Given the description of an element on the screen output the (x, y) to click on. 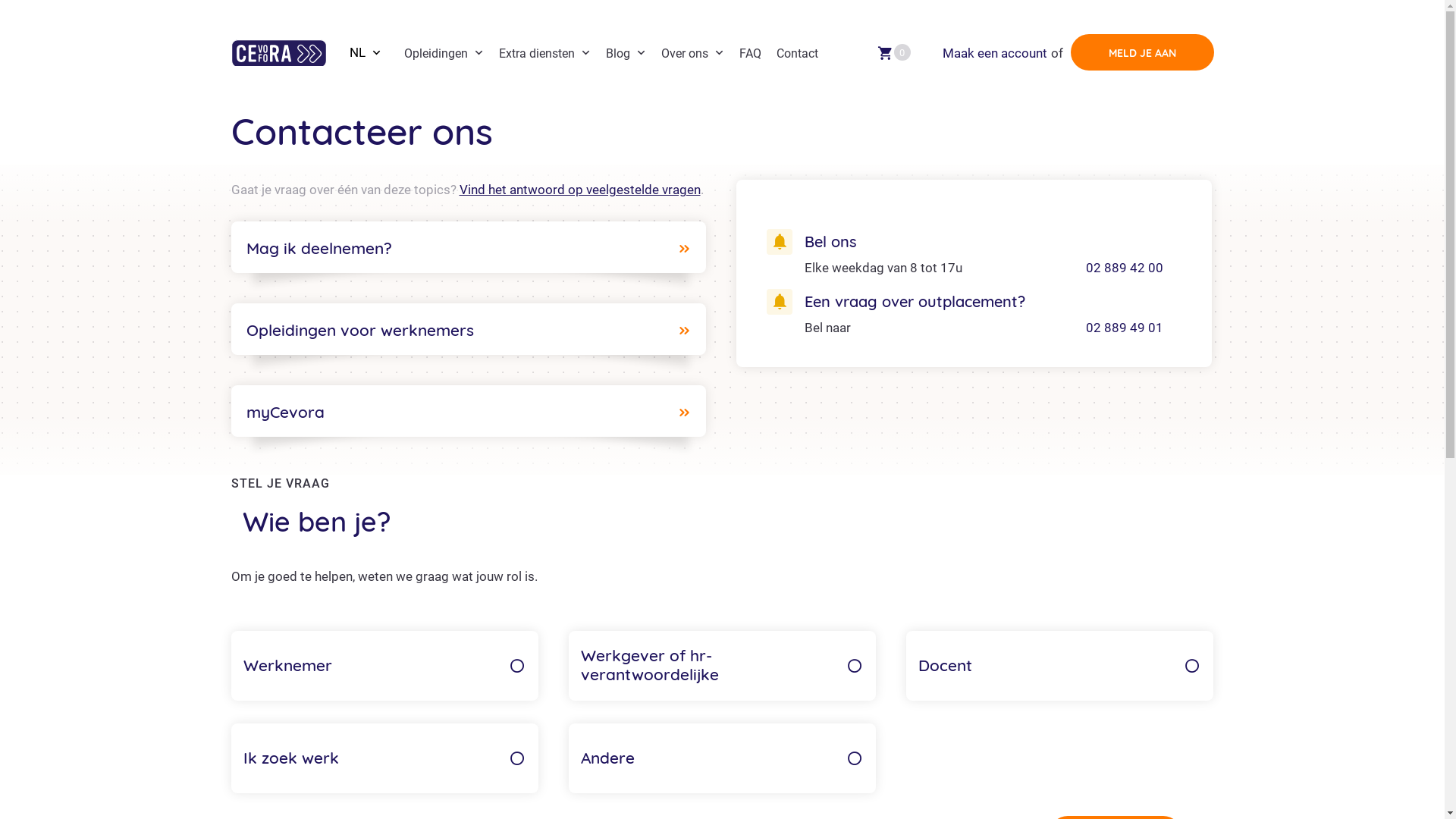
Vind het antwoord op veelgestelde vragen Element type: text (579, 188)
02 889 42 00 Element type: text (1124, 266)
Over ons Element type: text (692, 52)
FAQ Element type: text (749, 52)
Mag ik deelnemen? Element type: text (468, 247)
Blog Element type: text (625, 52)
Opleidingen voor werknemers Element type: text (468, 328)
myCevora Element type: text (468, 410)
Opleidingen Element type: text (443, 52)
Maak een account Element type: text (993, 52)
Extra diensten Element type: text (544, 52)
02 889 49 01 Element type: text (1124, 326)
Contact Element type: text (797, 52)
MELD JE AAN Element type: text (1142, 52)
NL Element type: text (364, 51)
